Given the description of an element on the screen output the (x, y) to click on. 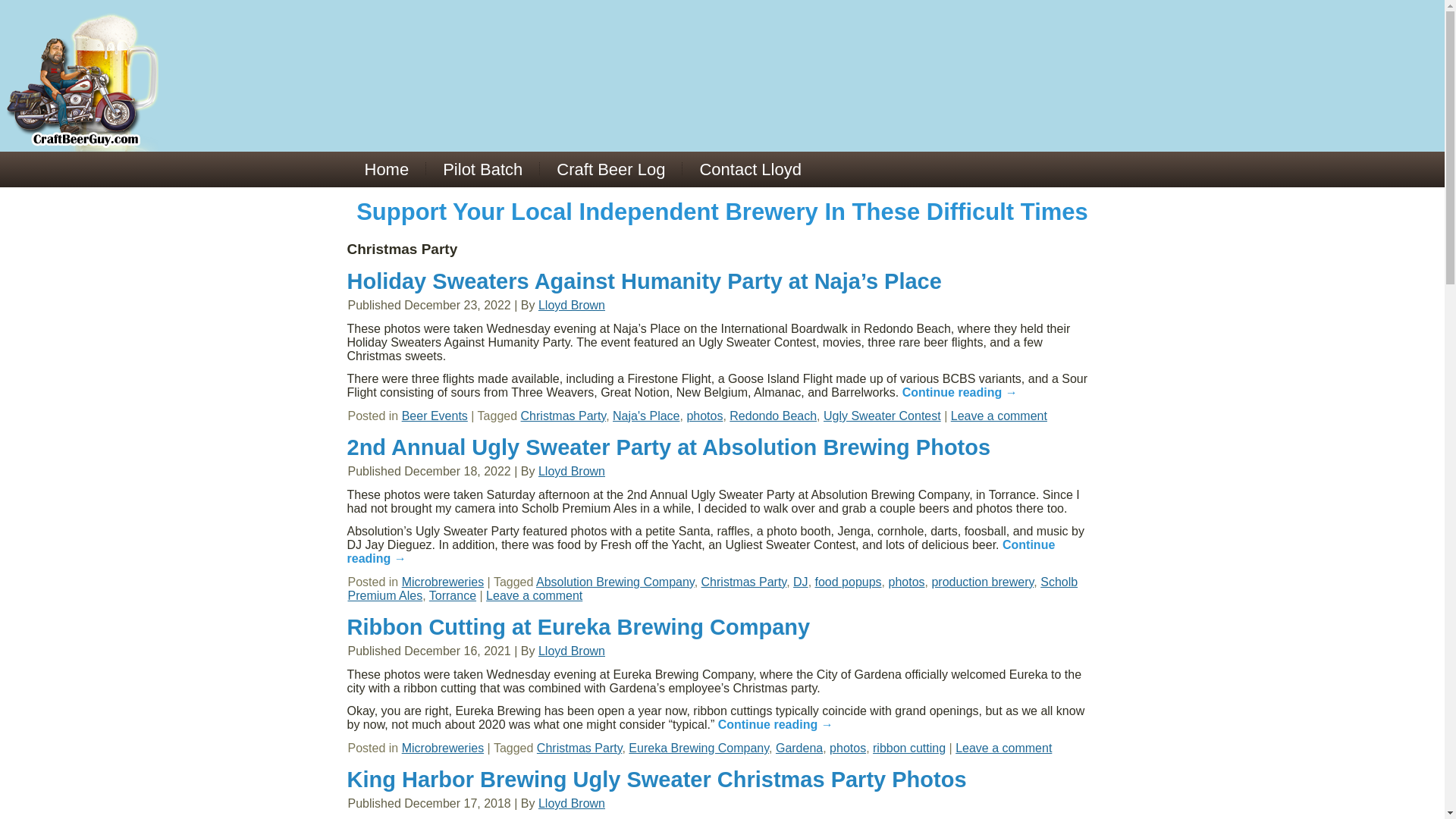
3:33 pm (457, 650)
3:30 pm (457, 471)
Gardena (799, 748)
Christmas Party (744, 581)
Contact Lloyd (750, 169)
Leave a comment (534, 594)
Absolution Brewing Company (614, 581)
photos (703, 415)
production brewery (982, 581)
Christmas Party (564, 415)
photos (906, 581)
Microbreweries (442, 581)
Beer Events (434, 415)
Naja's Place (645, 415)
Welcome (386, 169)
